Given the description of an element on the screen output the (x, y) to click on. 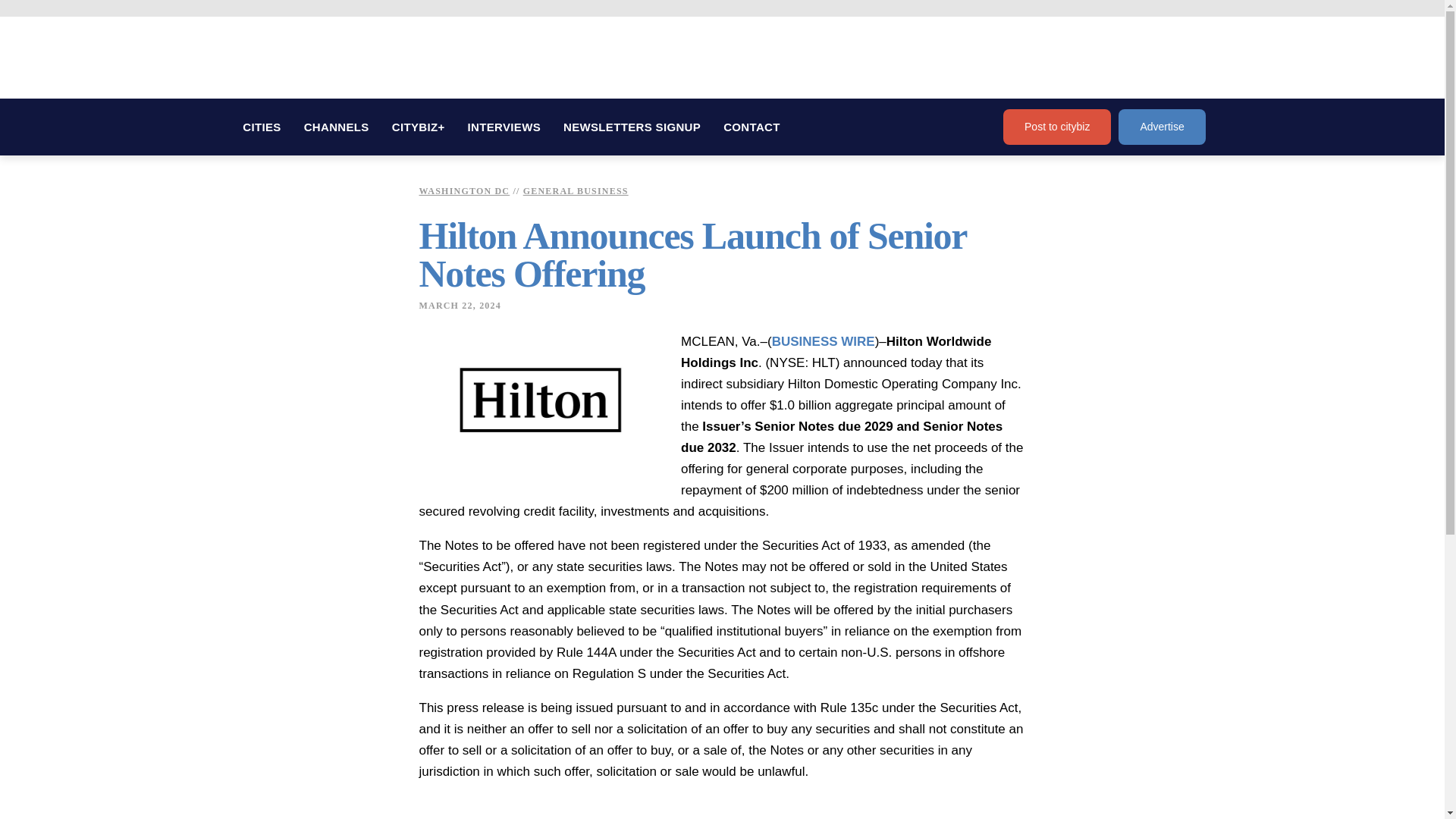
CITIES (261, 127)
citybiz (320, 60)
CHANNELS (336, 127)
citybiz (320, 60)
